Given the description of an element on the screen output the (x, y) to click on. 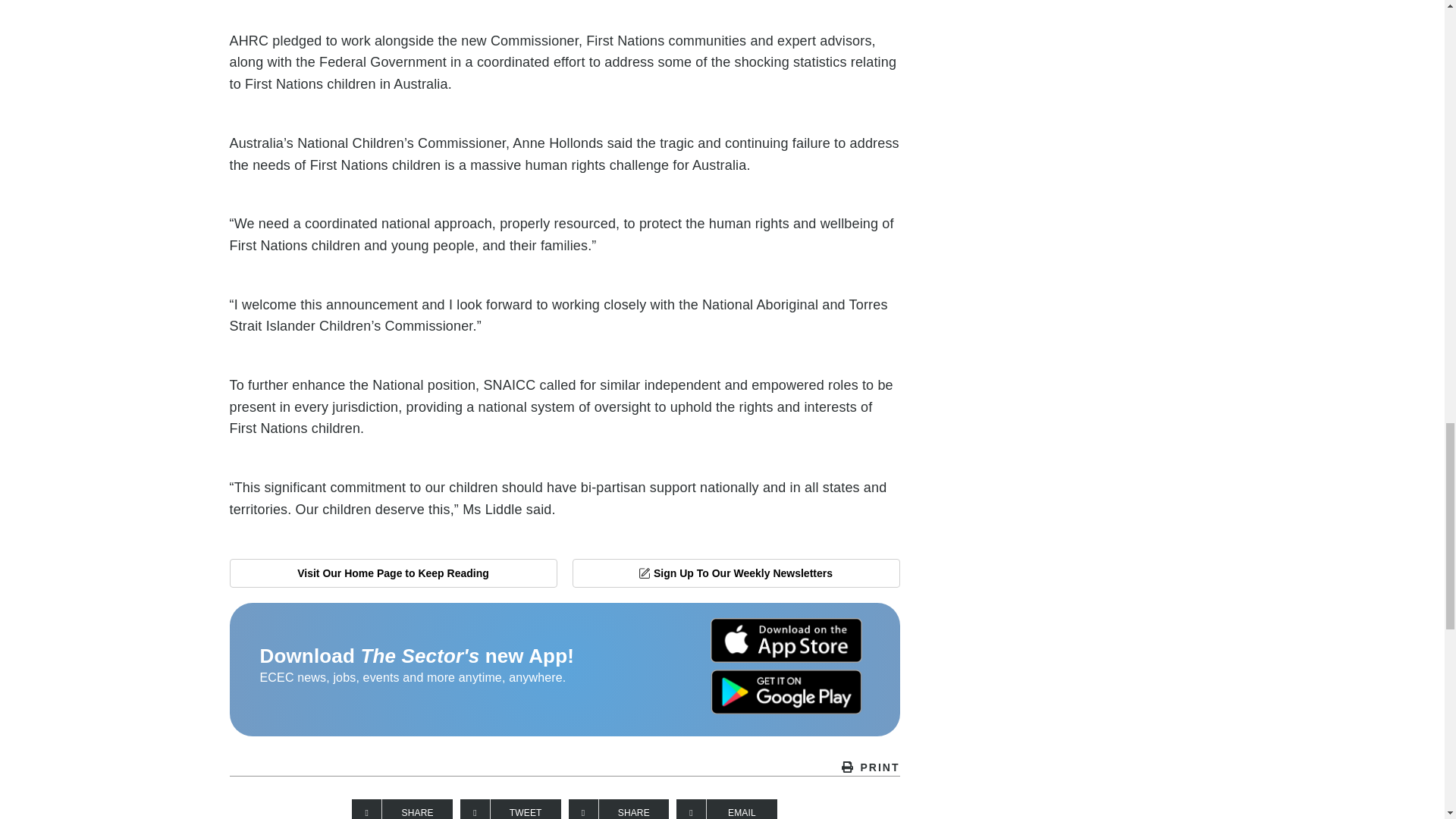
PRINT (563, 767)
Share on LinkedIn (619, 809)
Share on Facebook (402, 809)
TWEET (510, 809)
Tweet (510, 809)
SHARE (402, 809)
Sign Up To Our Weekly Newsletters (735, 573)
Visit Our Home Page to Keep Reading (392, 573)
Share on Email (727, 809)
